Given the description of an element on the screen output the (x, y) to click on. 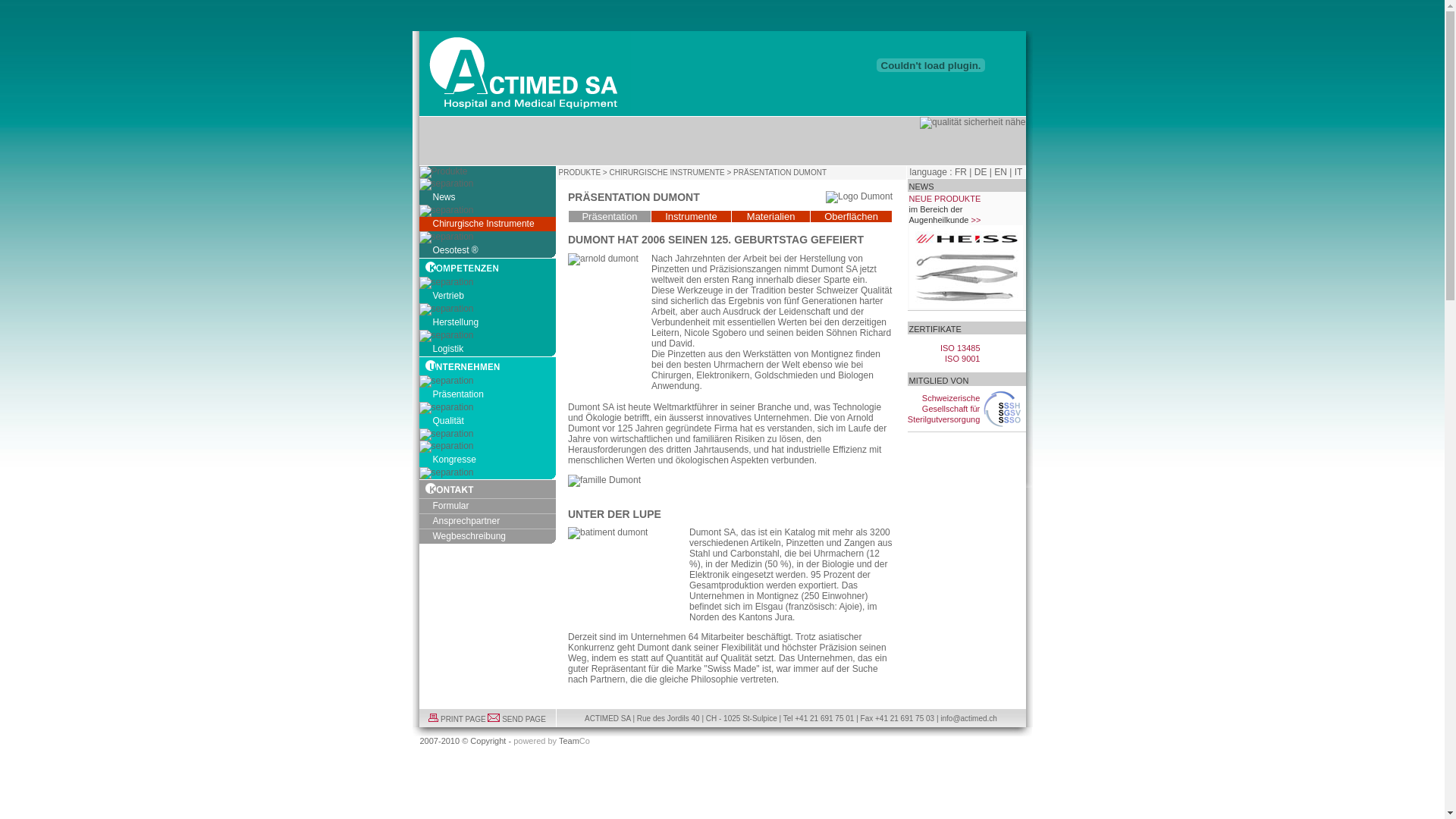
PRINT PAGE Element type: text (463, 719)
FR Element type: text (960, 171)
Instrumente Element type: text (691, 216)
Chirurgische Instrumente Element type: text (486, 223)
DE Element type: text (980, 171)
Kongresse Element type: text (486, 459)
Wegbeschreibung Element type: text (486, 536)
ISO 9001 Element type: text (961, 358)
SEND PAGE Element type: text (524, 719)
Materialien Element type: text (770, 216)
EN Element type: text (1000, 171)
powered by TeamCo Element type: text (551, 740)
>> Element type: text (975, 219)
slogan Element type: hover (930, 65)
Ansprechpartner Element type: text (486, 521)
Herstellung Element type: text (486, 322)
ISO 13485 Element type: text (960, 347)
Vertrieb Element type: text (486, 295)
Formular Element type: text (486, 505)
IT Element type: text (1018, 171)
News Element type: text (486, 197)
Logistik Element type: text (486, 349)
info@actimed.ch Element type: text (968, 718)
